Given the description of an element on the screen output the (x, y) to click on. 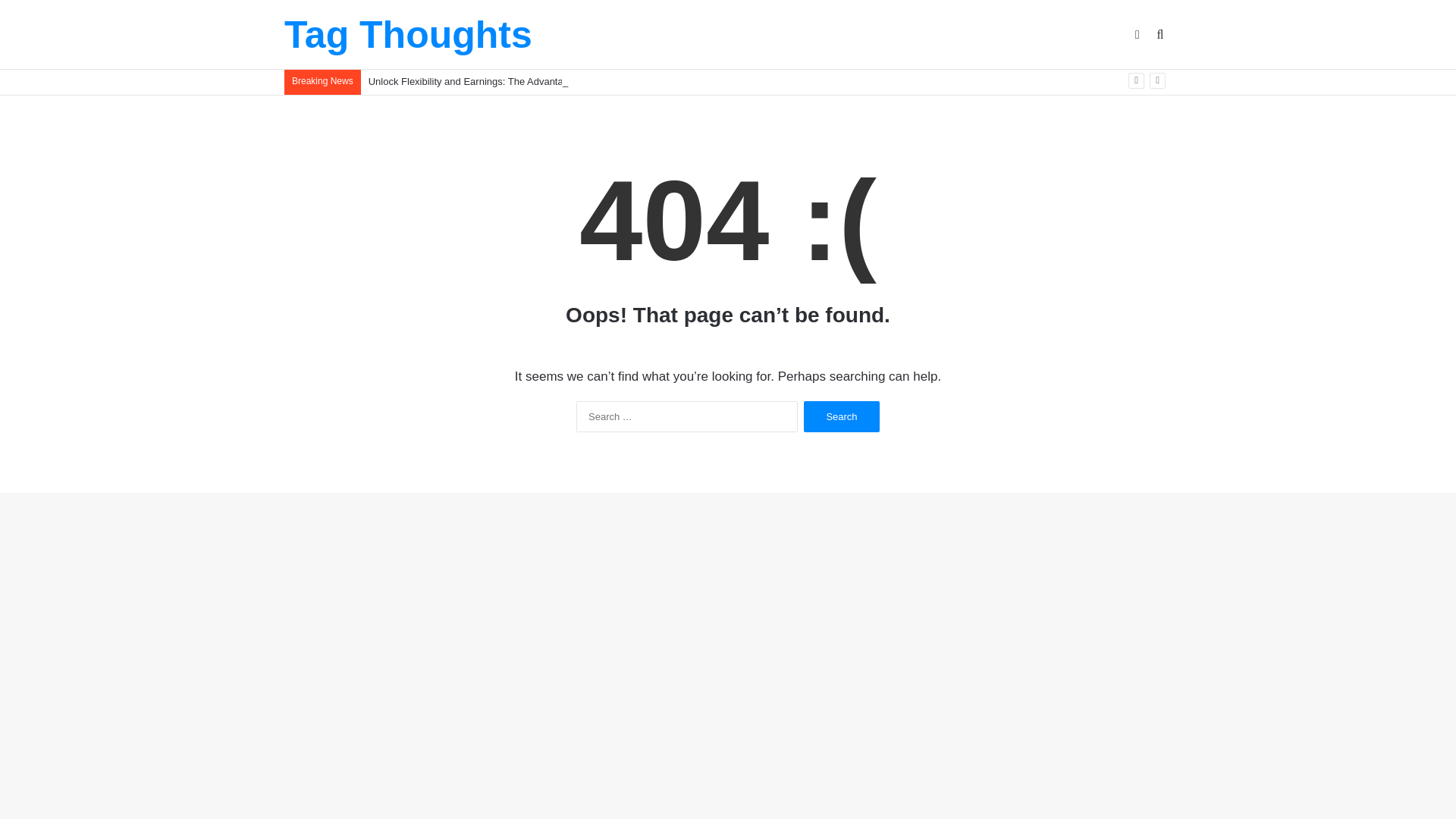
Tag Thoughts (407, 34)
Search (841, 416)
Search (841, 416)
Tag Thoughts (407, 34)
Search (841, 416)
